Given the description of an element on the screen output the (x, y) to click on. 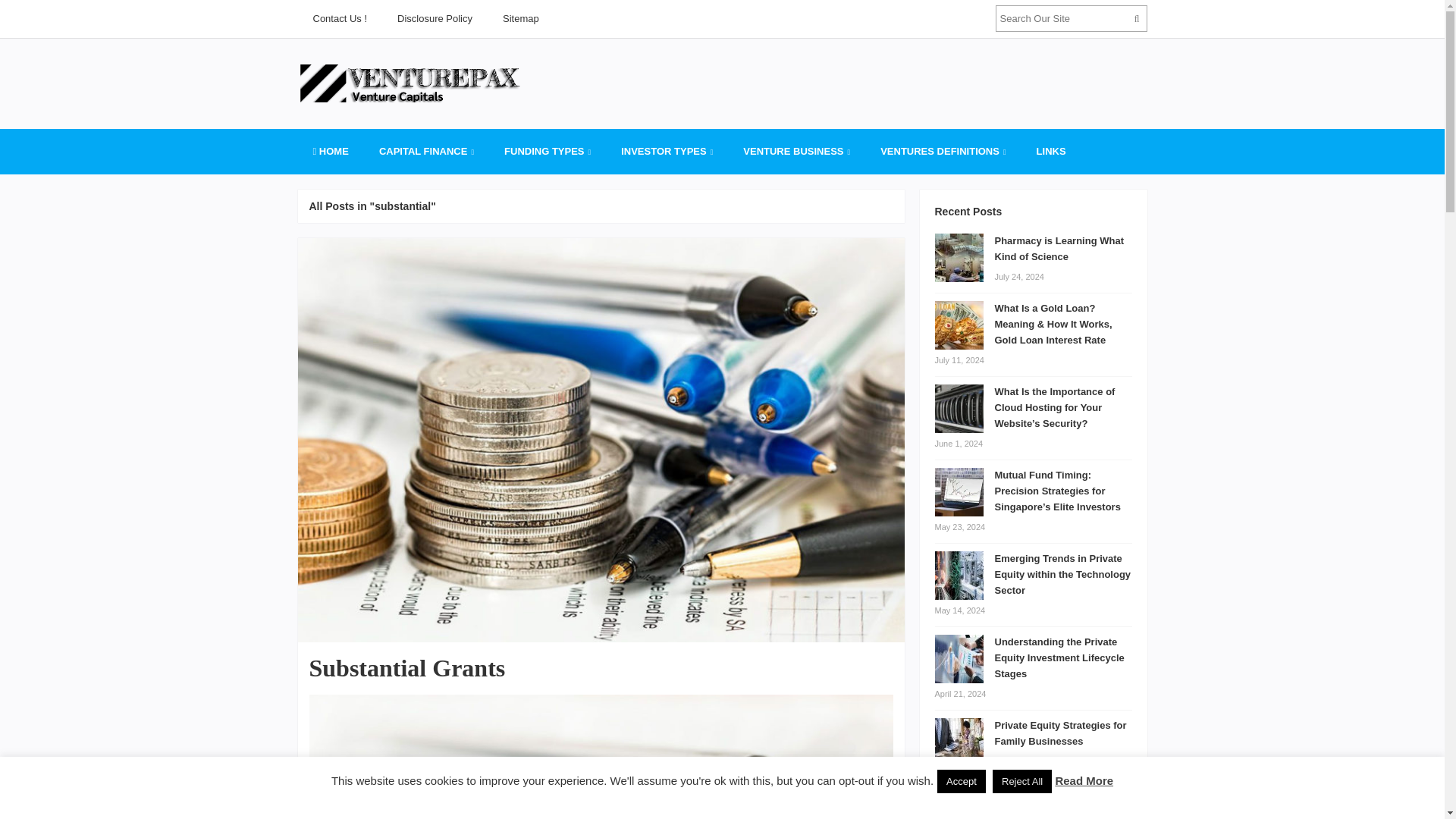
Contact Us ! (339, 18)
Sitemap (520, 18)
Disclosure Policy (434, 18)
